Given the description of an element on the screen output the (x, y) to click on. 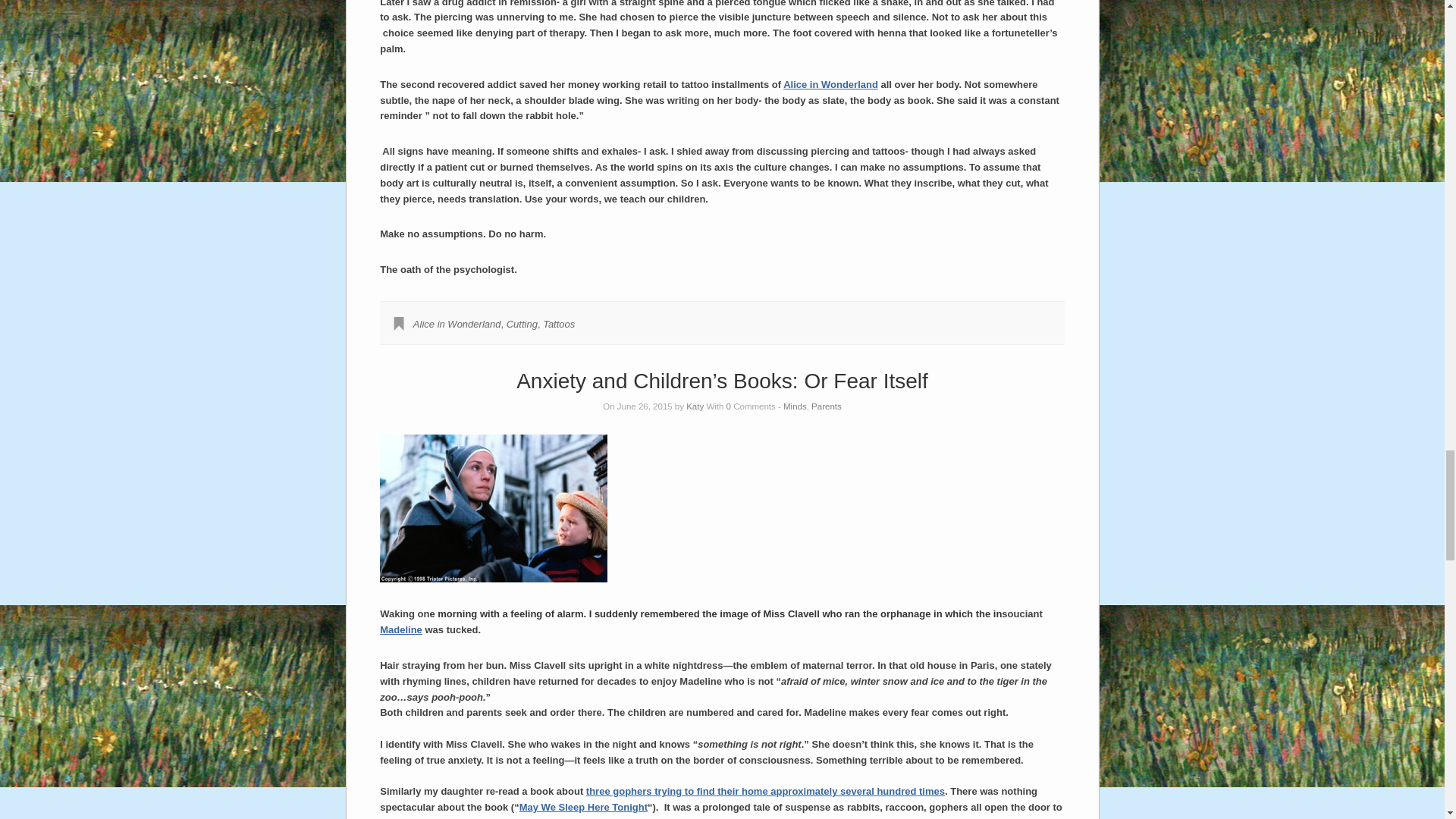
Cutting (521, 324)
Alice in Wonderland (830, 84)
Alice in Wonderland (456, 324)
